Given the description of an element on the screen output the (x, y) to click on. 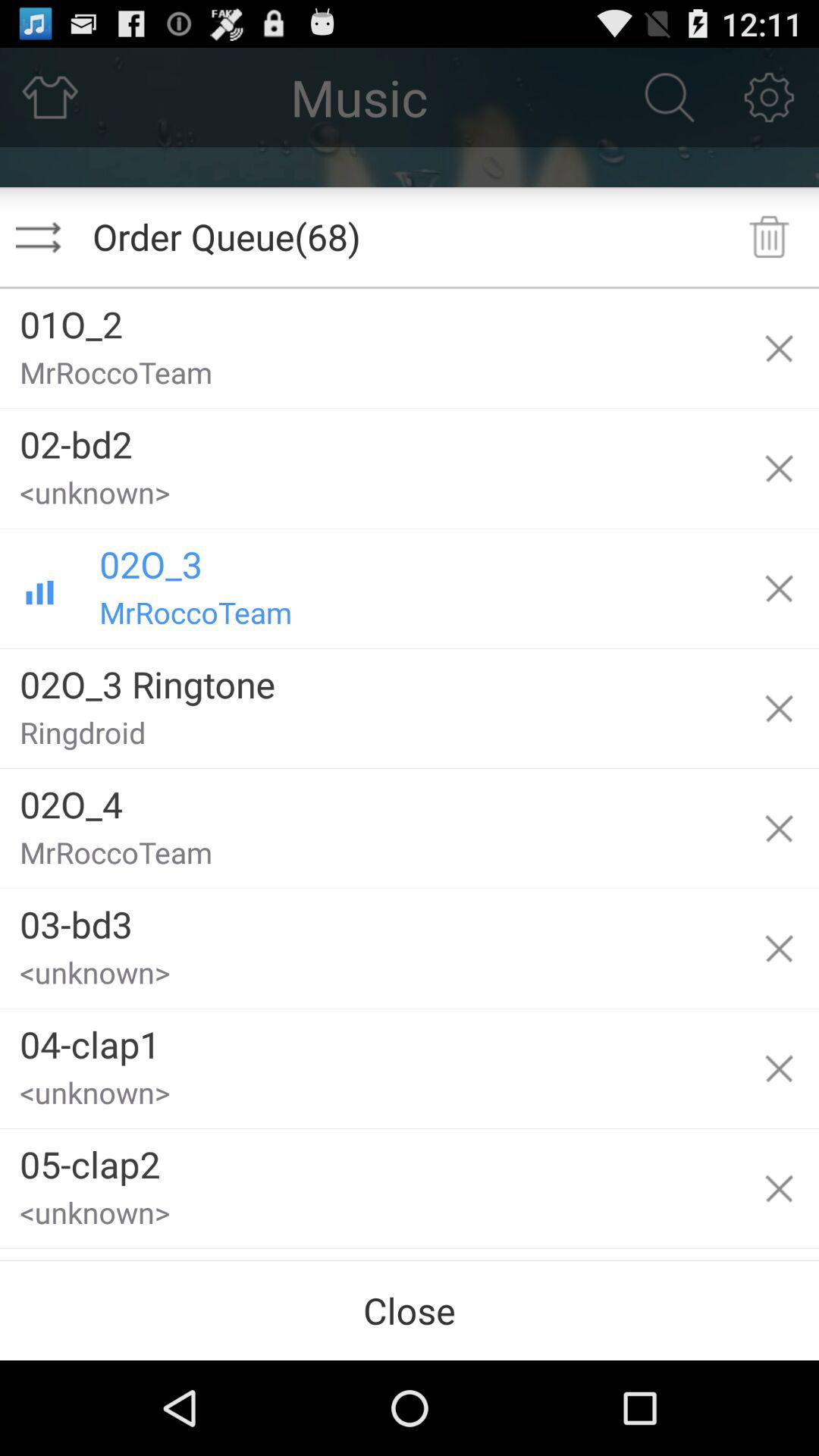
swipe until the 01o_2 item (369, 318)
